Given the description of an element on the screen output the (x, y) to click on. 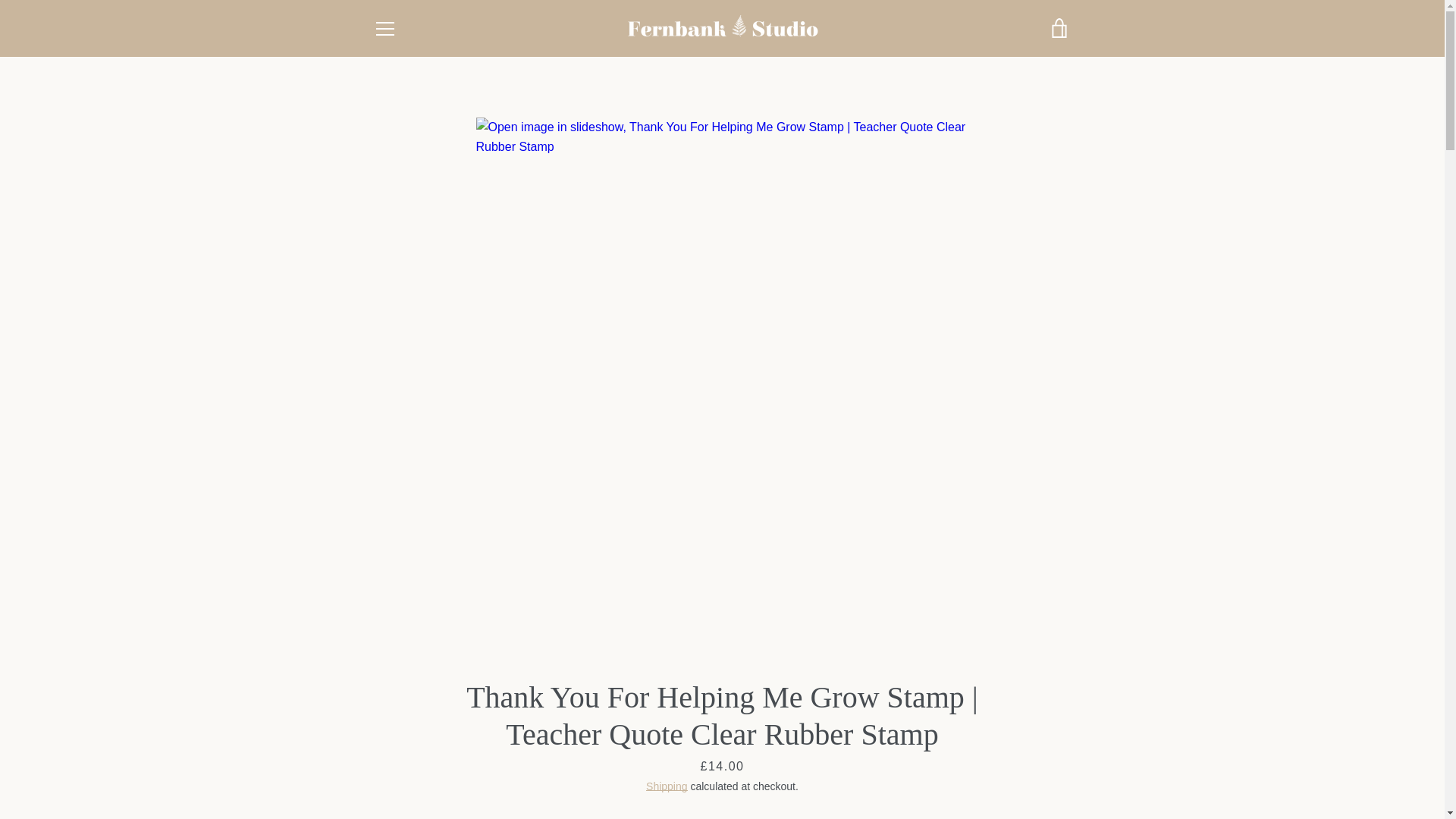
MENU (384, 27)
